Given the description of an element on the screen output the (x, y) to click on. 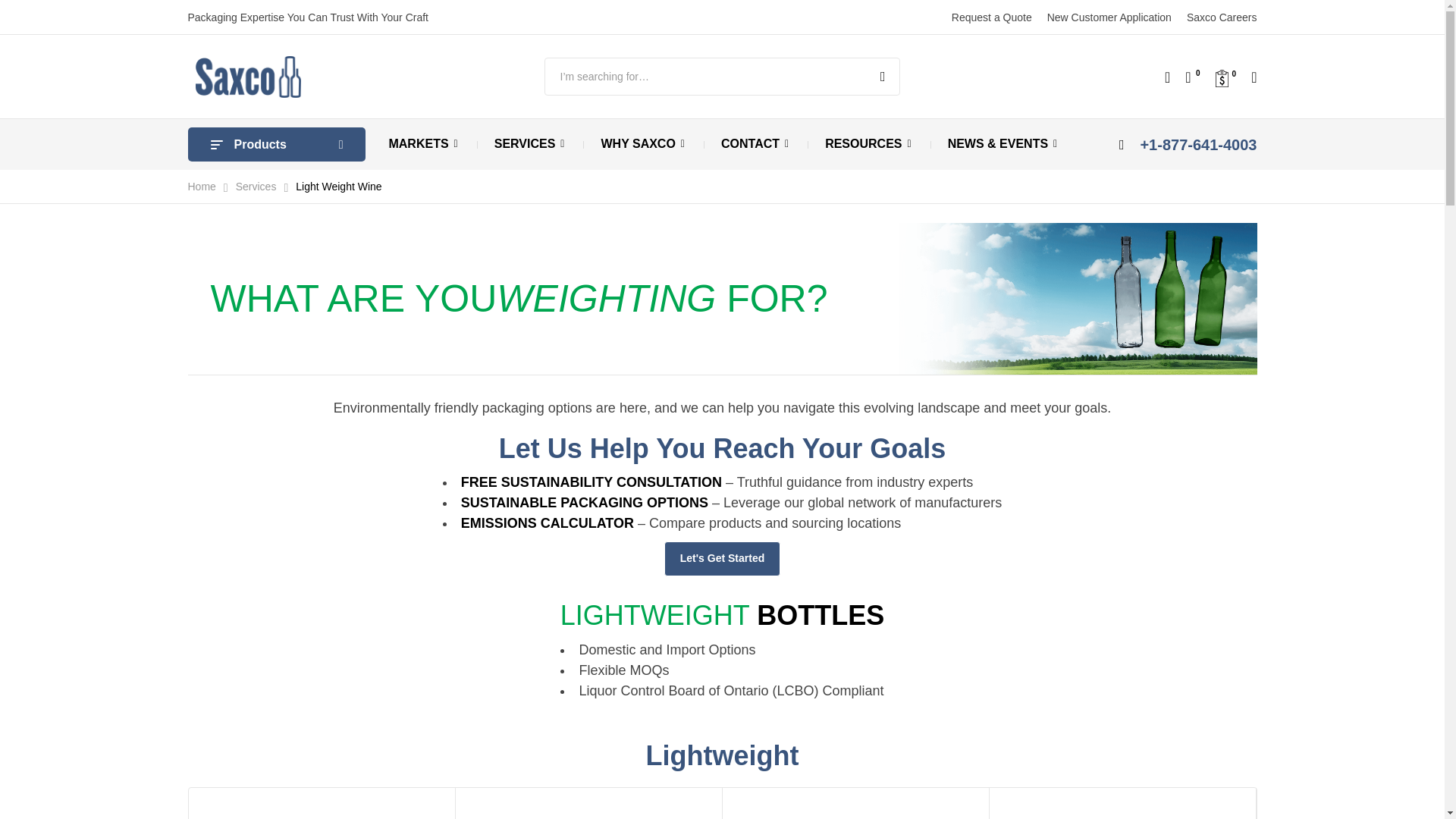
Search (879, 76)
New Customer Application (1109, 17)
Saxco Careers (1221, 17)
Quote Request (1225, 76)
Request a Quote (992, 17)
